Given the description of an element on the screen output the (x, y) to click on. 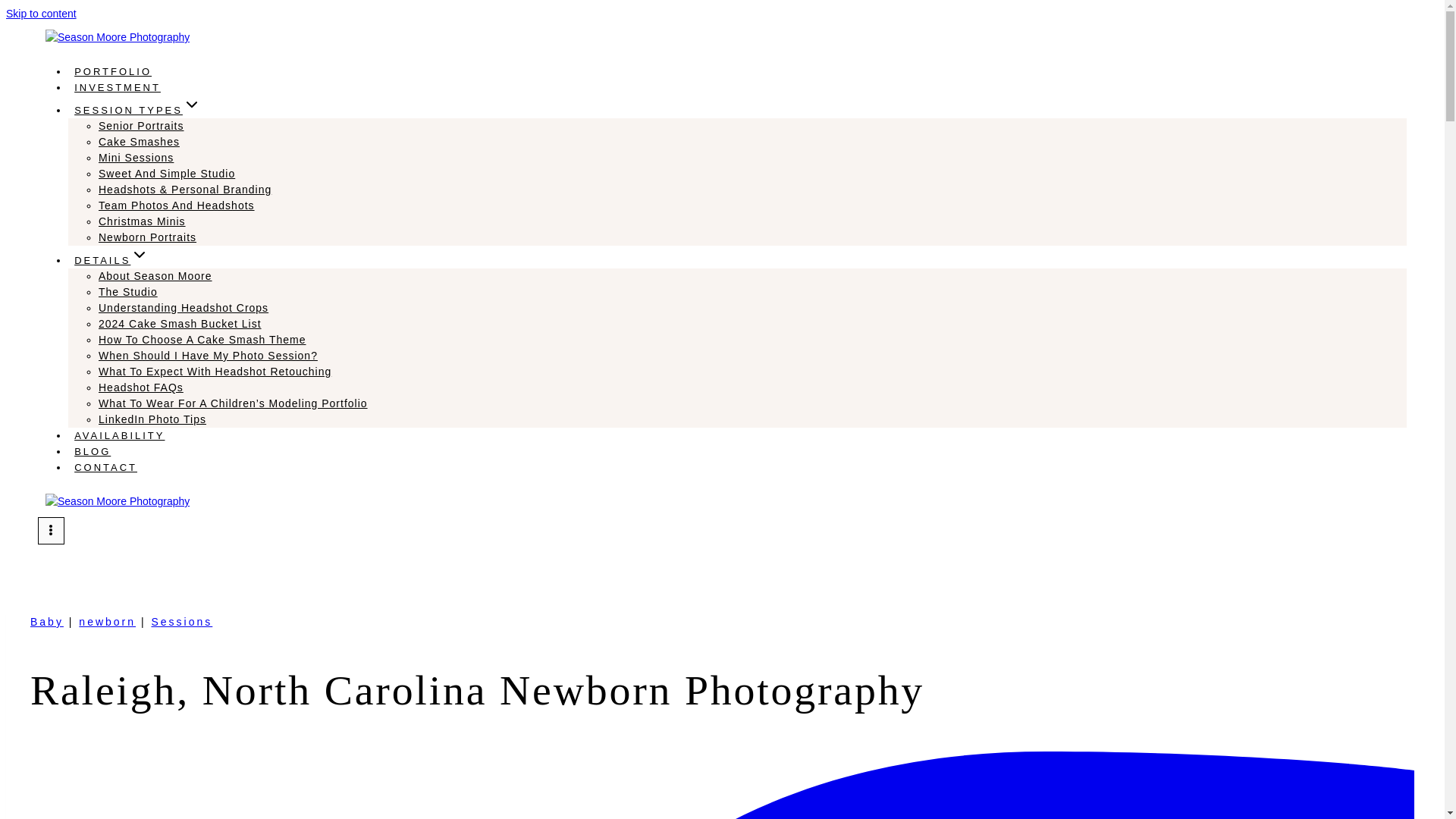
EXPAND (139, 254)
About Season Moore (155, 275)
DETAILSEXPAND (111, 259)
Team Photos And Headshots (176, 205)
Toggle Menu (50, 530)
INVESTMENT (117, 87)
The Studio (128, 291)
Toggle Menu (50, 530)
Mini Sessions (136, 157)
BLOG (92, 451)
